Given the description of an element on the screen output the (x, y) to click on. 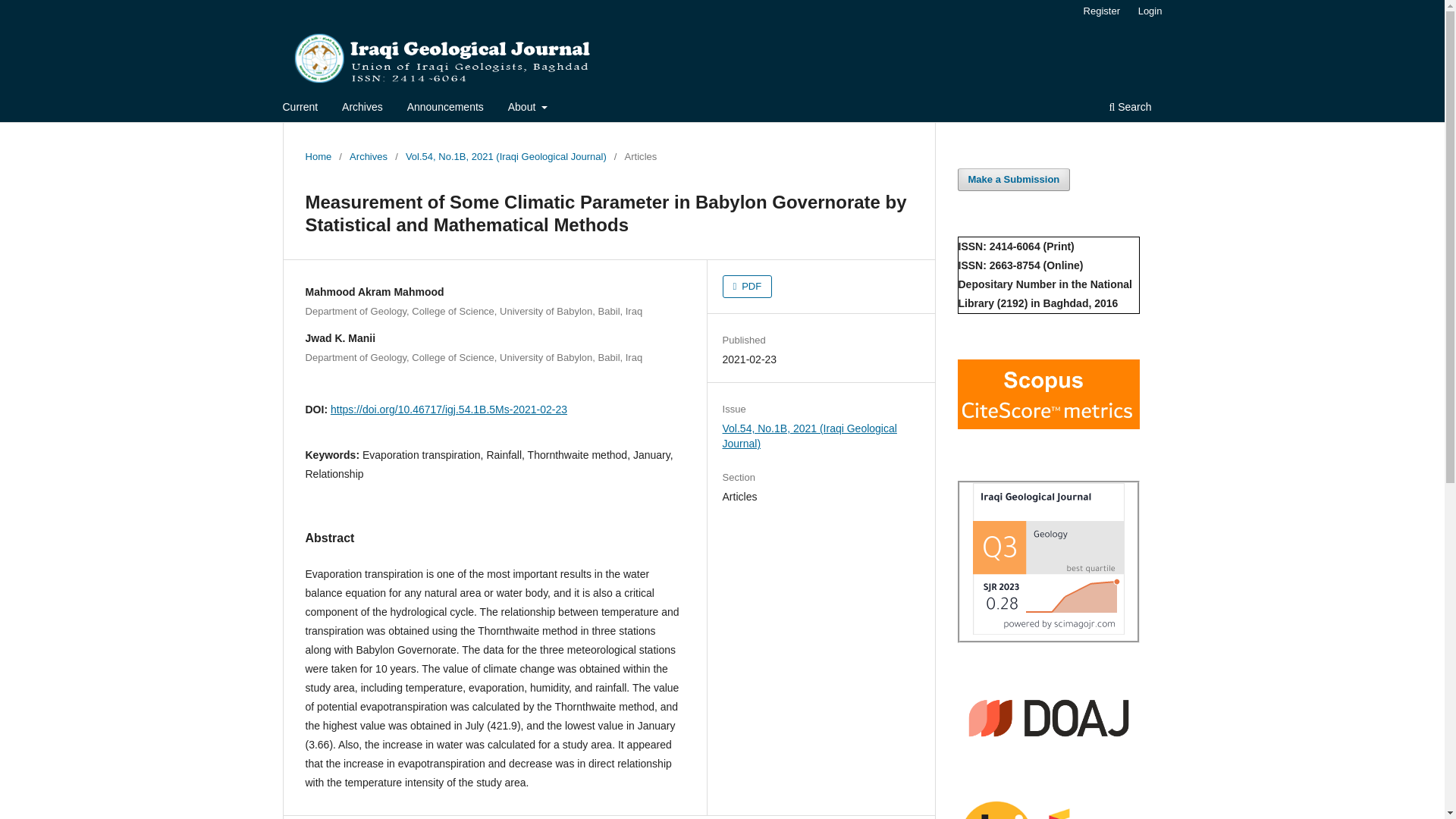
Register (1100, 11)
Announcements (445, 108)
Home (317, 156)
PDF (747, 286)
Current (300, 108)
Search (1129, 108)
Archives (368, 156)
About (527, 108)
Login (1150, 11)
Make a Submission (1013, 179)
